Given the description of an element on the screen output the (x, y) to click on. 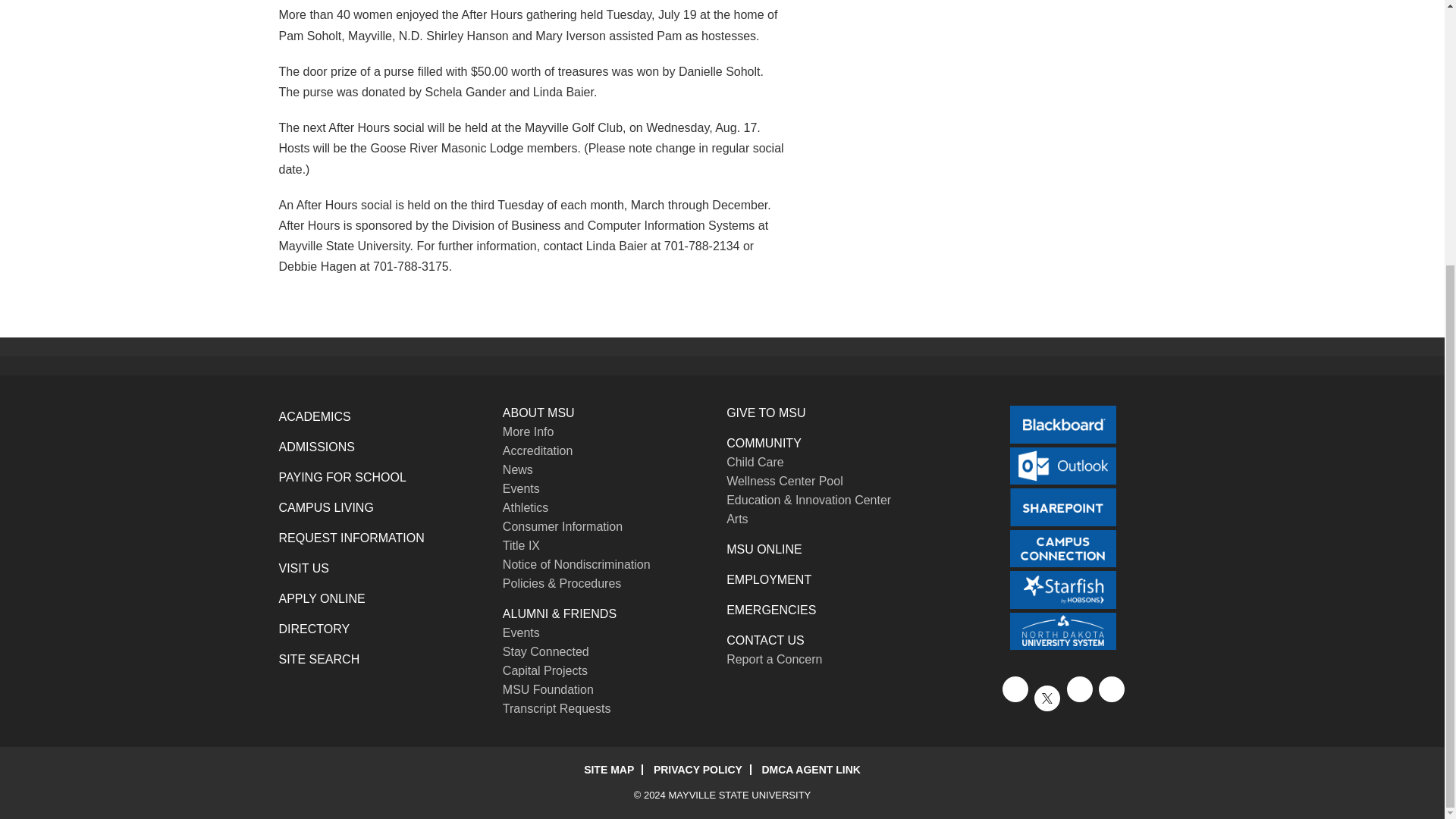
Apply Now (322, 598)
Campus Living (326, 507)
Site Search (319, 658)
Academics (314, 416)
About MSU (538, 412)
Visit Us (304, 567)
Paying for School (342, 477)
Admissions (317, 446)
Request Information (352, 537)
